Given the description of an element on the screen output the (x, y) to click on. 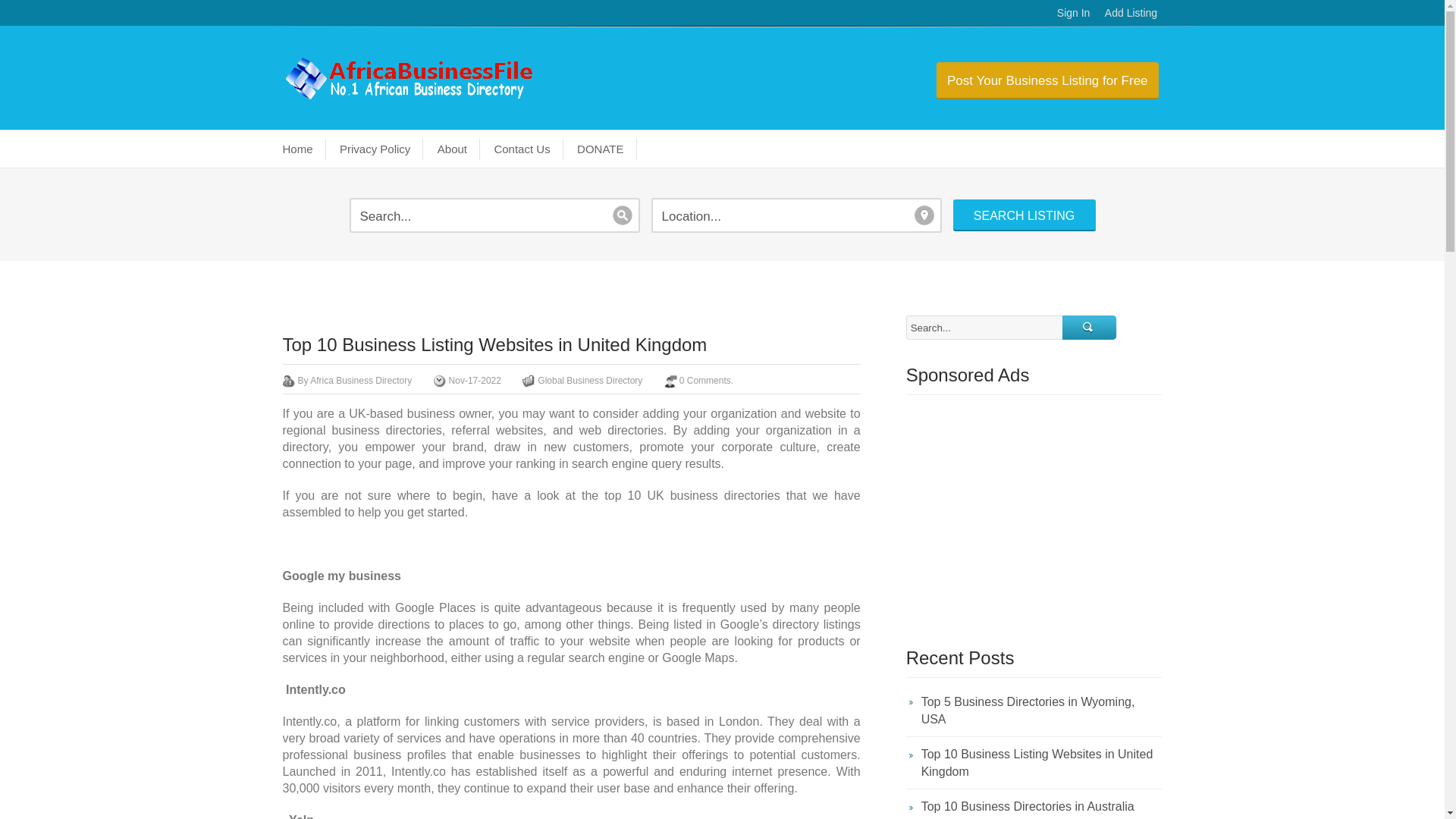
Privacy Policy (376, 148)
Add Listing (1131, 12)
Search Listing (1023, 214)
0 Comments. (706, 380)
Posts by Africa Business Directory (361, 380)
Top 5 Business Directories in Wyoming, USA (1033, 714)
Advertisement (1033, 516)
Search Listing (1023, 214)
Post Your Business Listing for Free (1047, 80)
Search... (984, 327)
